Given the description of an element on the screen output the (x, y) to click on. 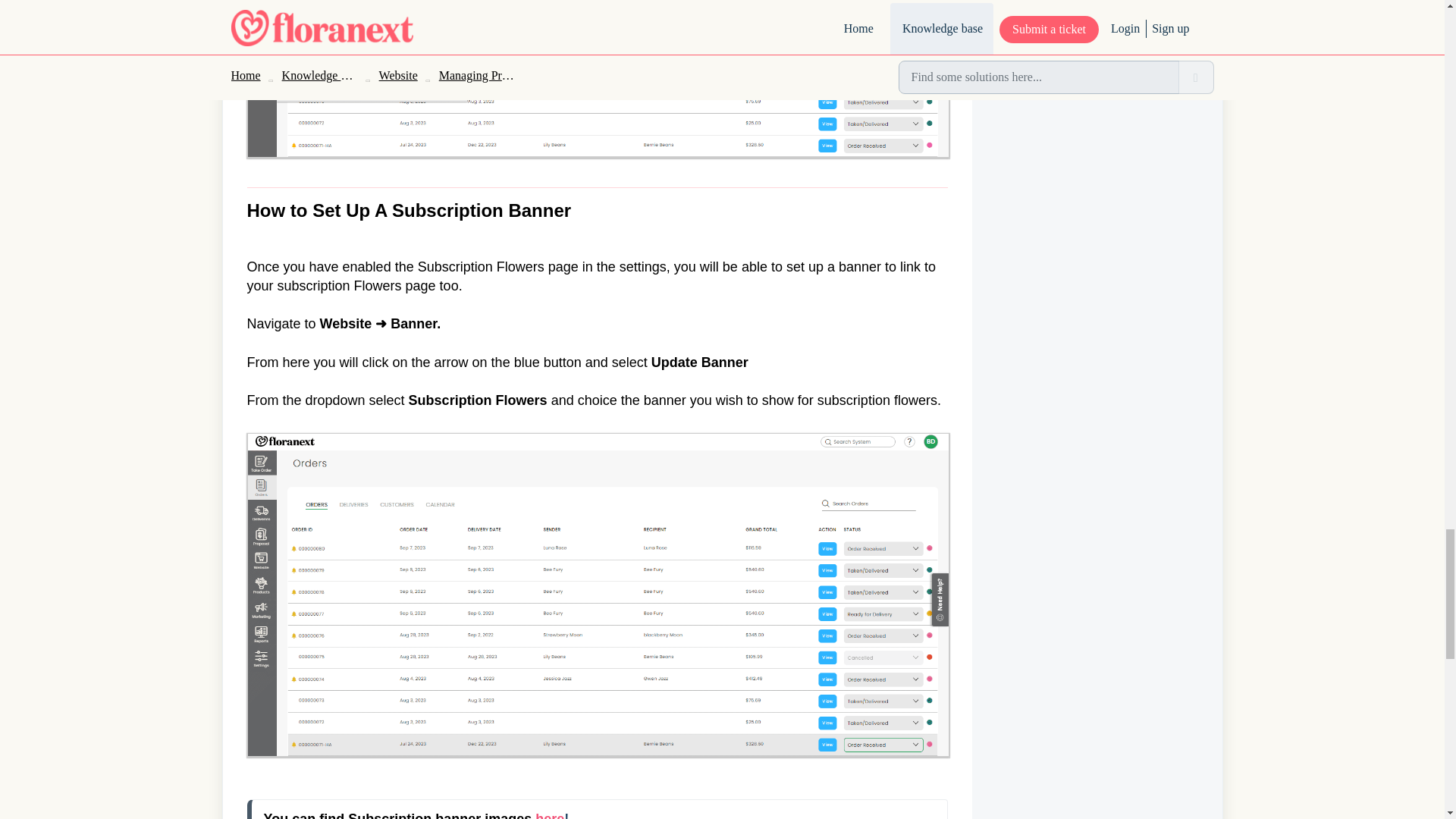
here (549, 815)
